Given the description of an element on the screen output the (x, y) to click on. 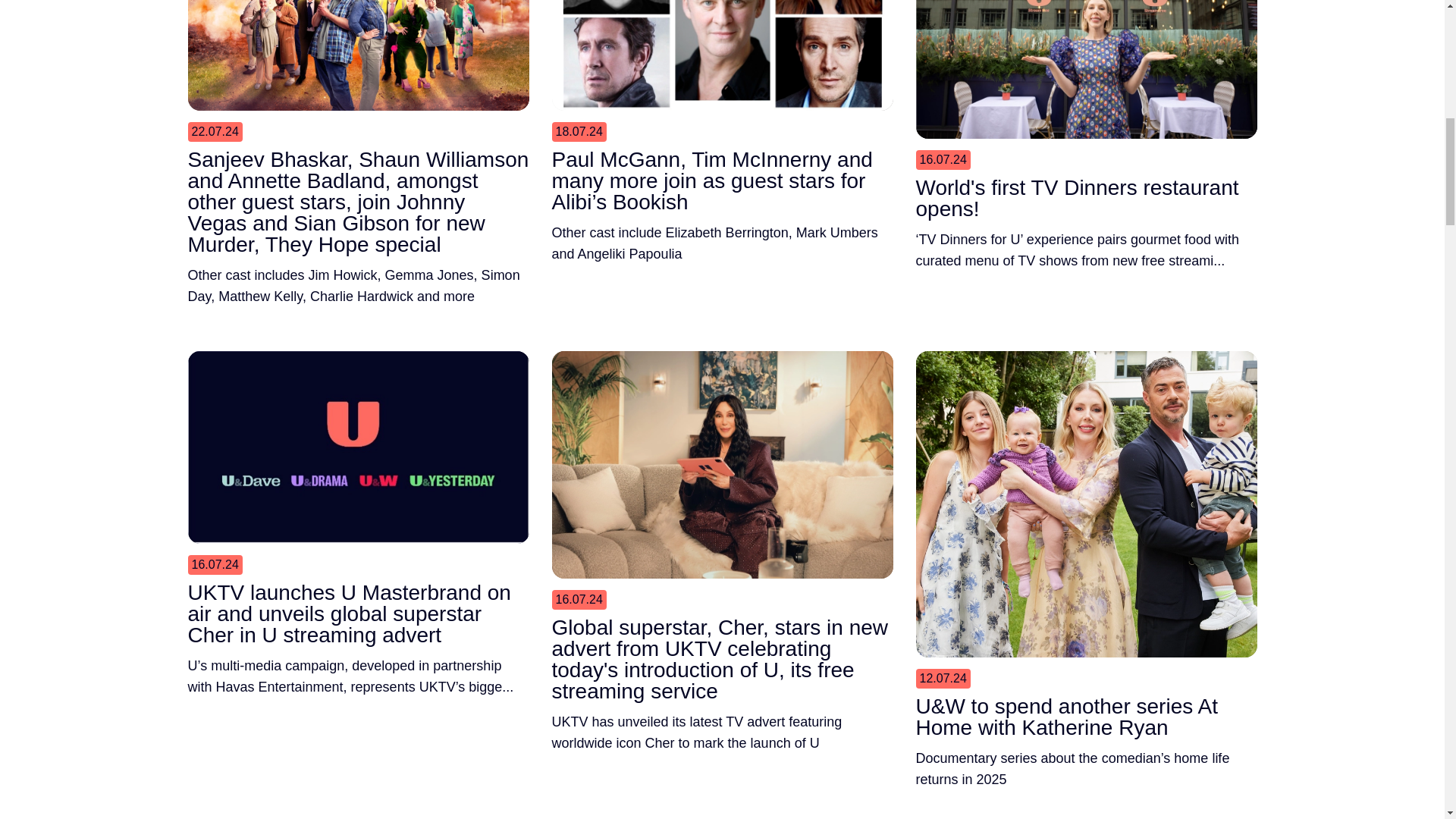
World's first TV Dinners restaurant opens! (1086, 203)
